Given the description of an element on the screen output the (x, y) to click on. 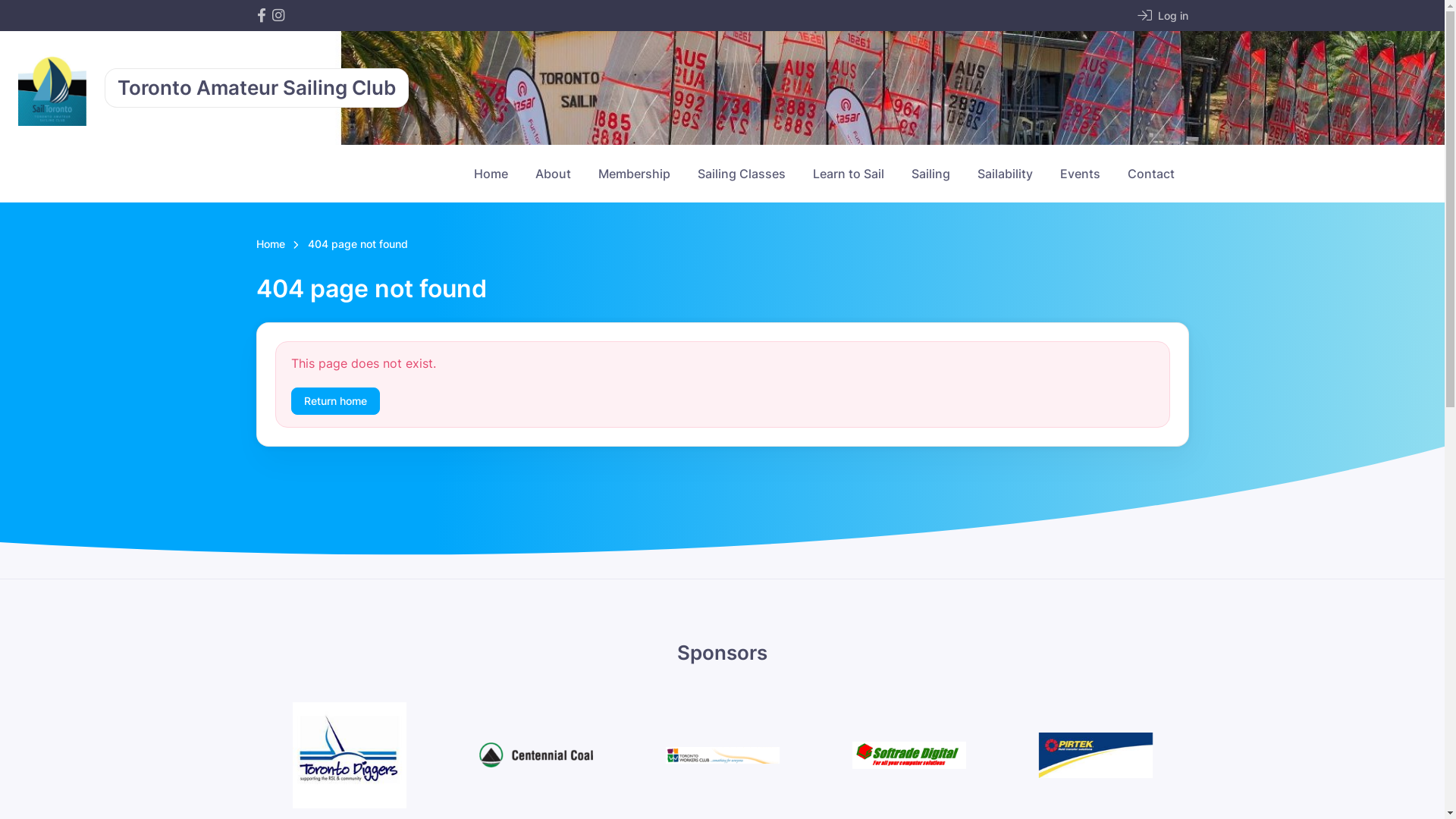
Membership Element type: text (633, 173)
About Element type: text (552, 173)
Sailing Classes Element type: text (741, 173)
Home Element type: text (270, 244)
Contact Element type: text (1150, 173)
Sailability Element type: text (1004, 173)
Learn to Sail Element type: text (848, 173)
Toronto Amateur Sailing Club on Facebook Element type: hover (260, 15)
Home Element type: text (489, 173)
Return home Element type: text (335, 401)
Log in Element type: text (1162, 15)
Sailing Element type: text (930, 173)
Events Element type: text (1079, 173)
Toronto Amateur Sailing Club on Instagram Element type: hover (277, 15)
